Given the description of an element on the screen output the (x, y) to click on. 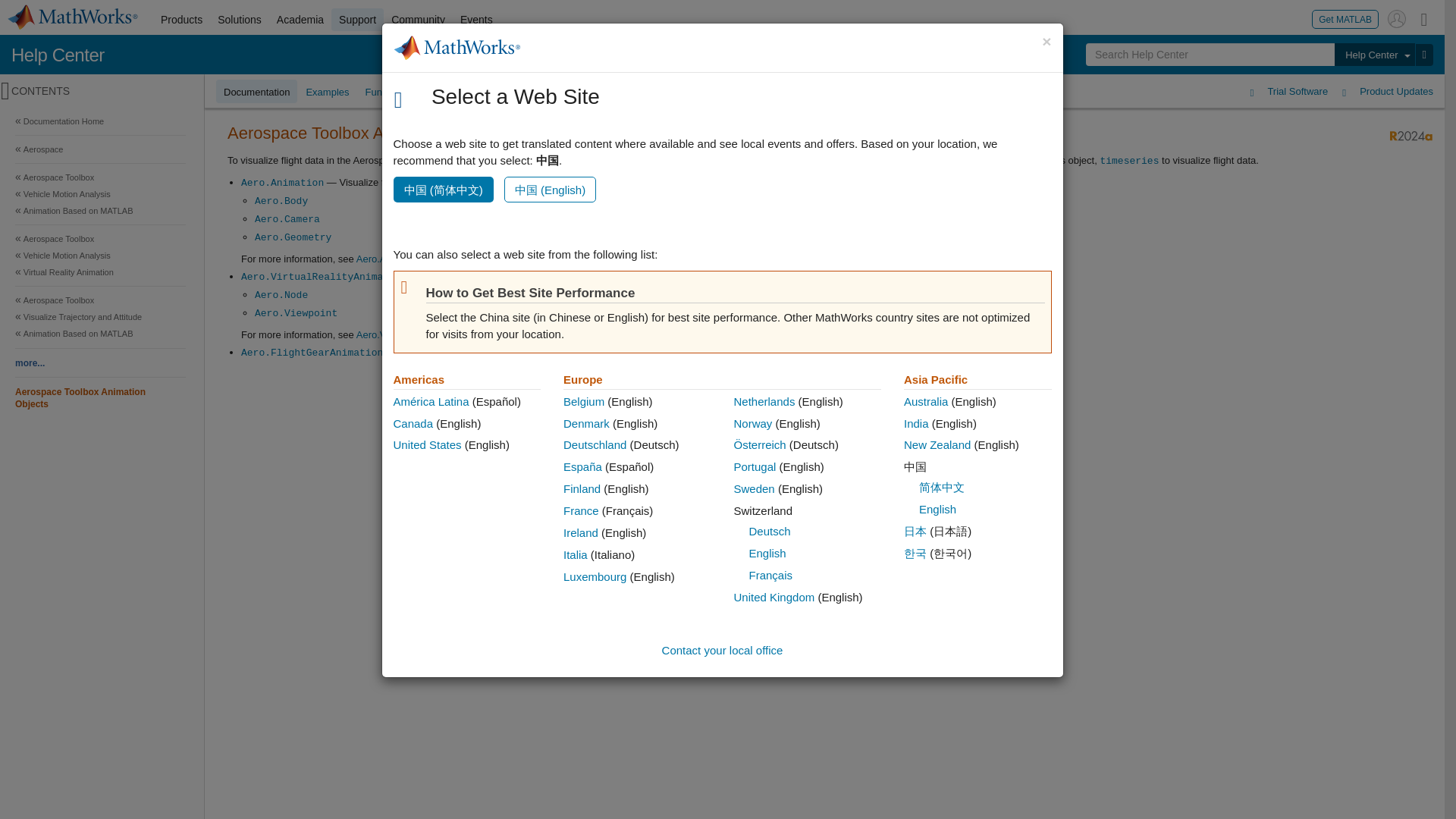
Aerospace Toolbox Animation Objects (100, 399)
Aerospace Toolbox Animation Objects (100, 397)
Solutions (239, 19)
Events (476, 19)
Support (357, 19)
Products (180, 19)
Matrix Menu (1423, 18)
Get MATLAB (1344, 18)
Sign In to Your MathWorks Account (1396, 18)
Community (418, 19)
Academia (300, 19)
